Given the description of an element on the screen output the (x, y) to click on. 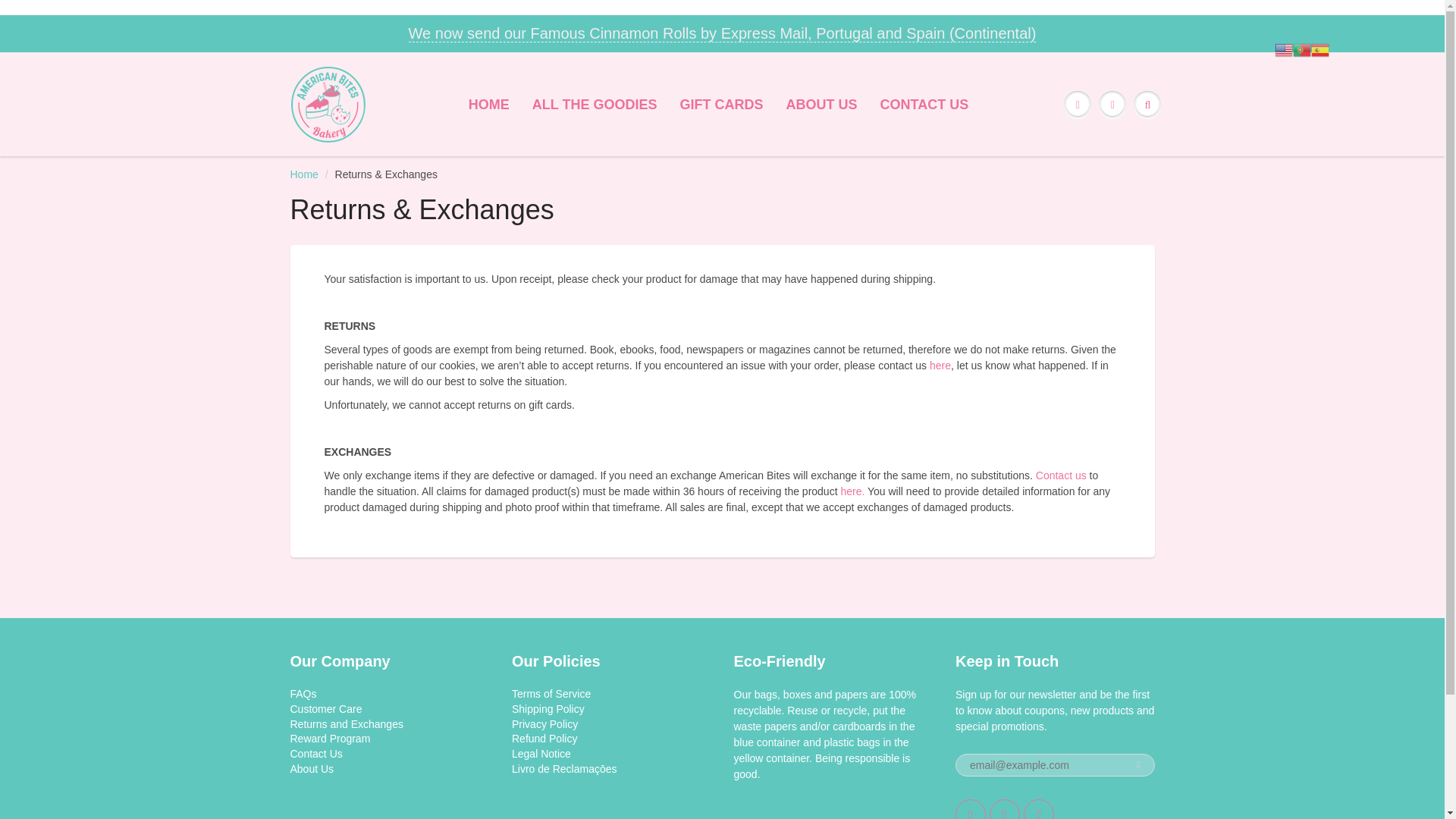
contact us (1060, 475)
Spanish (1320, 49)
ALL THE GOODIES (594, 104)
About Us (311, 768)
Facebook (1005, 809)
Home (303, 174)
contact us (852, 491)
Contact Us (315, 753)
FAQs (302, 693)
English (1283, 49)
Customer Care (325, 708)
Refund Policy (544, 738)
GIFT CARDS (721, 104)
Returns and Exchanges (346, 723)
Reward Program (329, 738)
